Given the description of an element on the screen output the (x, y) to click on. 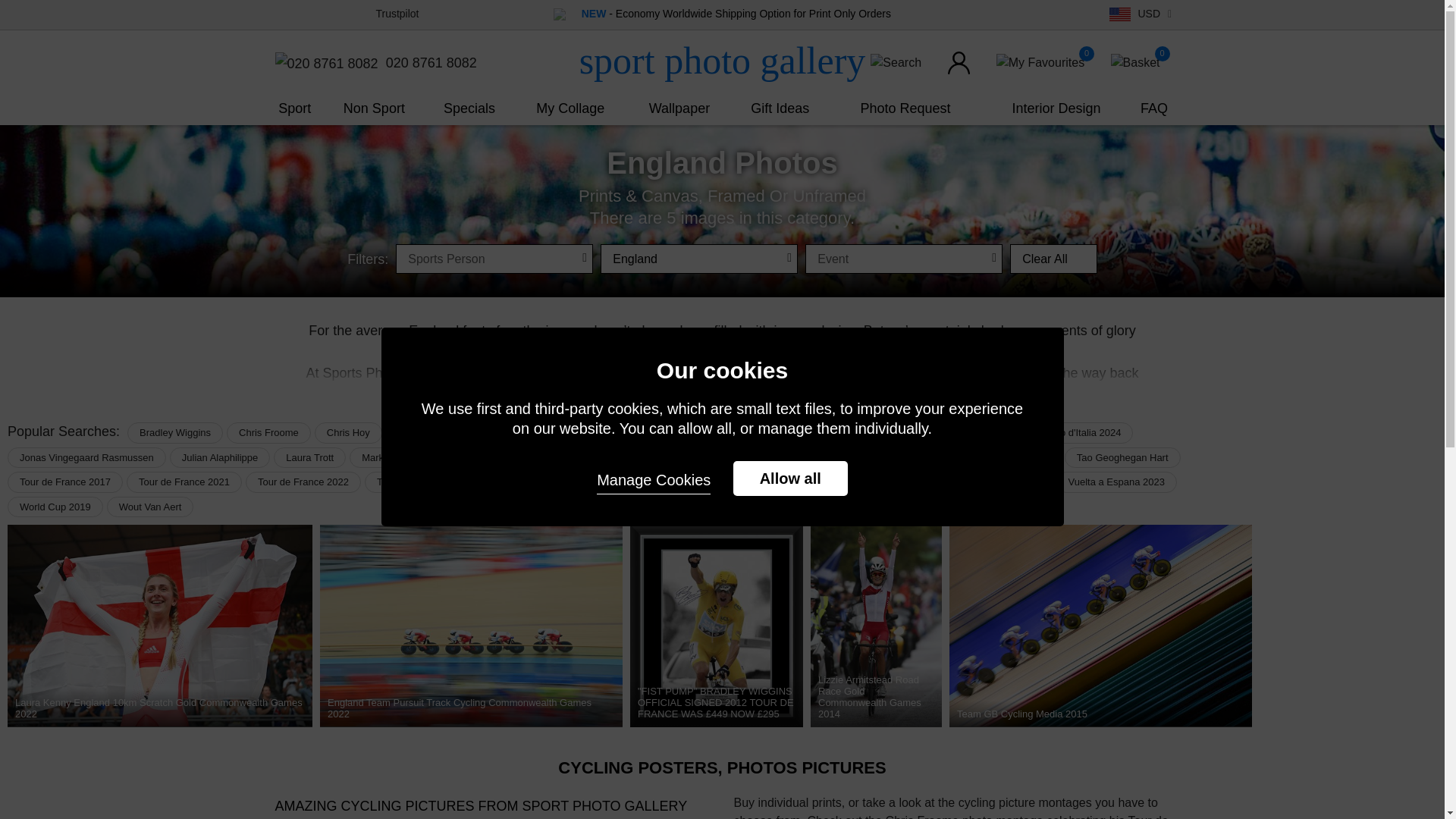
020 8761 8082 (375, 63)
sport photo gallery (722, 60)
0 (1039, 62)
England (698, 258)
USD (1142, 13)
0 (1135, 62)
Sport (294, 108)
Trustpilot (397, 13)
